Given the description of an element on the screen output the (x, y) to click on. 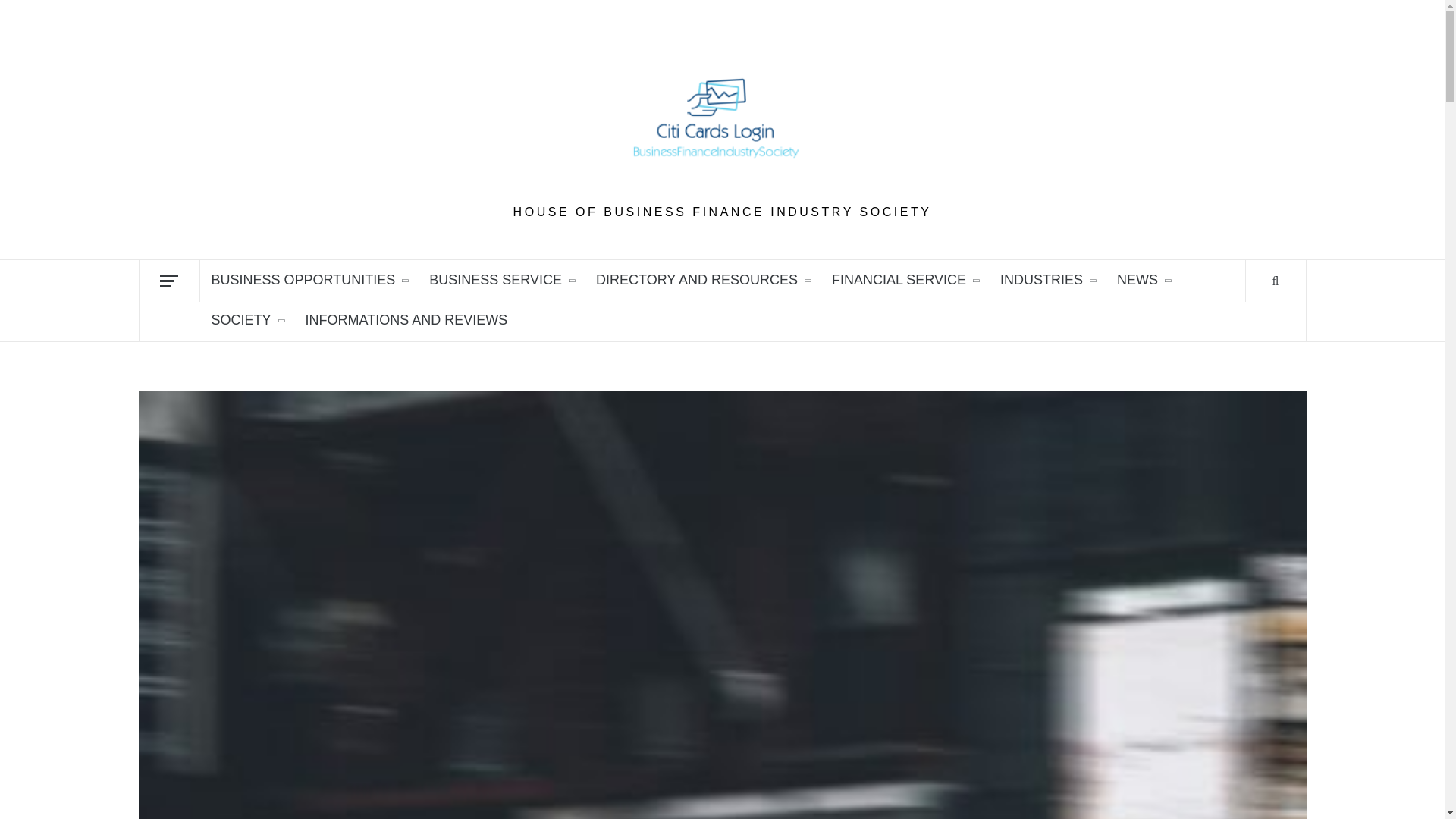
BUSINESS OPPORTUNITIES (309, 280)
FINANCIAL SERVICE (904, 280)
BUSINESS SERVICE (501, 280)
DIRECTORY AND RESOURCES (703, 280)
